Given the description of an element on the screen output the (x, y) to click on. 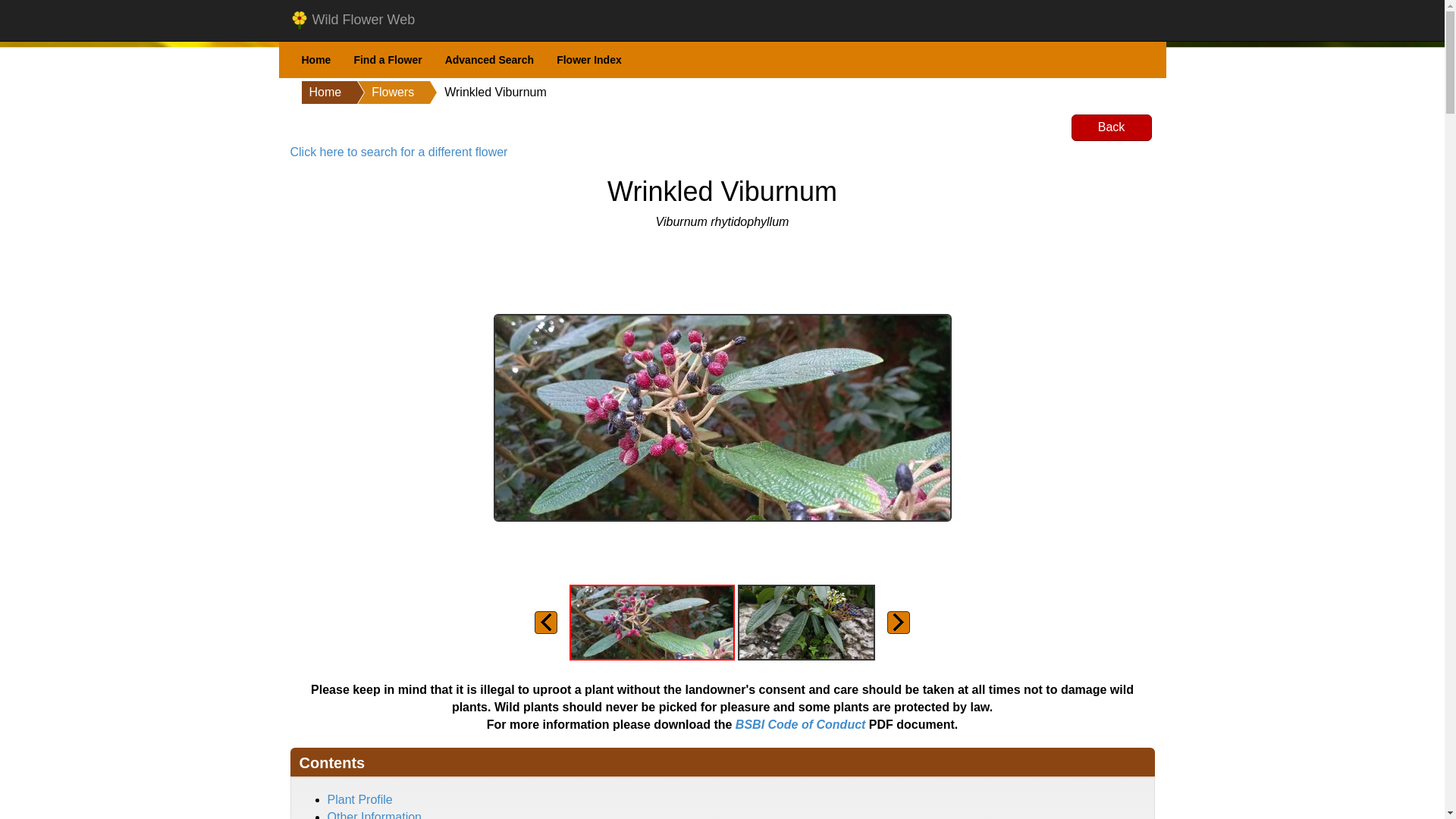
Other Information (374, 814)
Wild Flower Web (352, 20)
Click here to search for a different flower (397, 151)
Flowers (376, 92)
Plant Profile (360, 799)
BSBI Code of Conduct (800, 724)
Flower Index (588, 60)
Home (321, 92)
Find a Flower (387, 60)
Wrinkled Viburnum (480, 92)
